Given the description of an element on the screen output the (x, y) to click on. 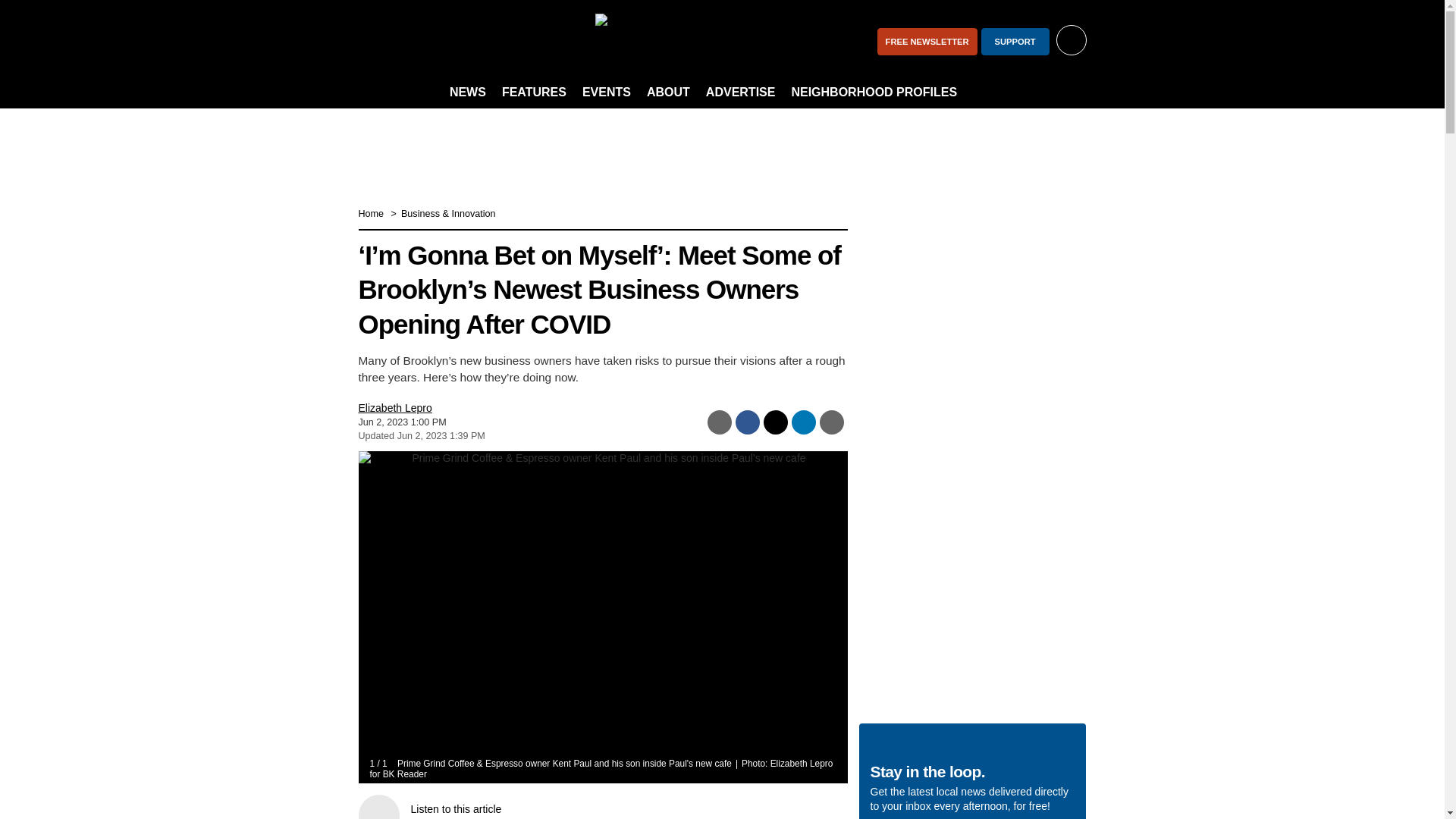
NEWS (468, 92)
FREE NEWSLETTER (926, 41)
Instagram (415, 41)
EVENTS (606, 92)
SUPPORT (1015, 41)
ABOUT (667, 92)
Facebook (376, 41)
